Given the description of an element on the screen output the (x, y) to click on. 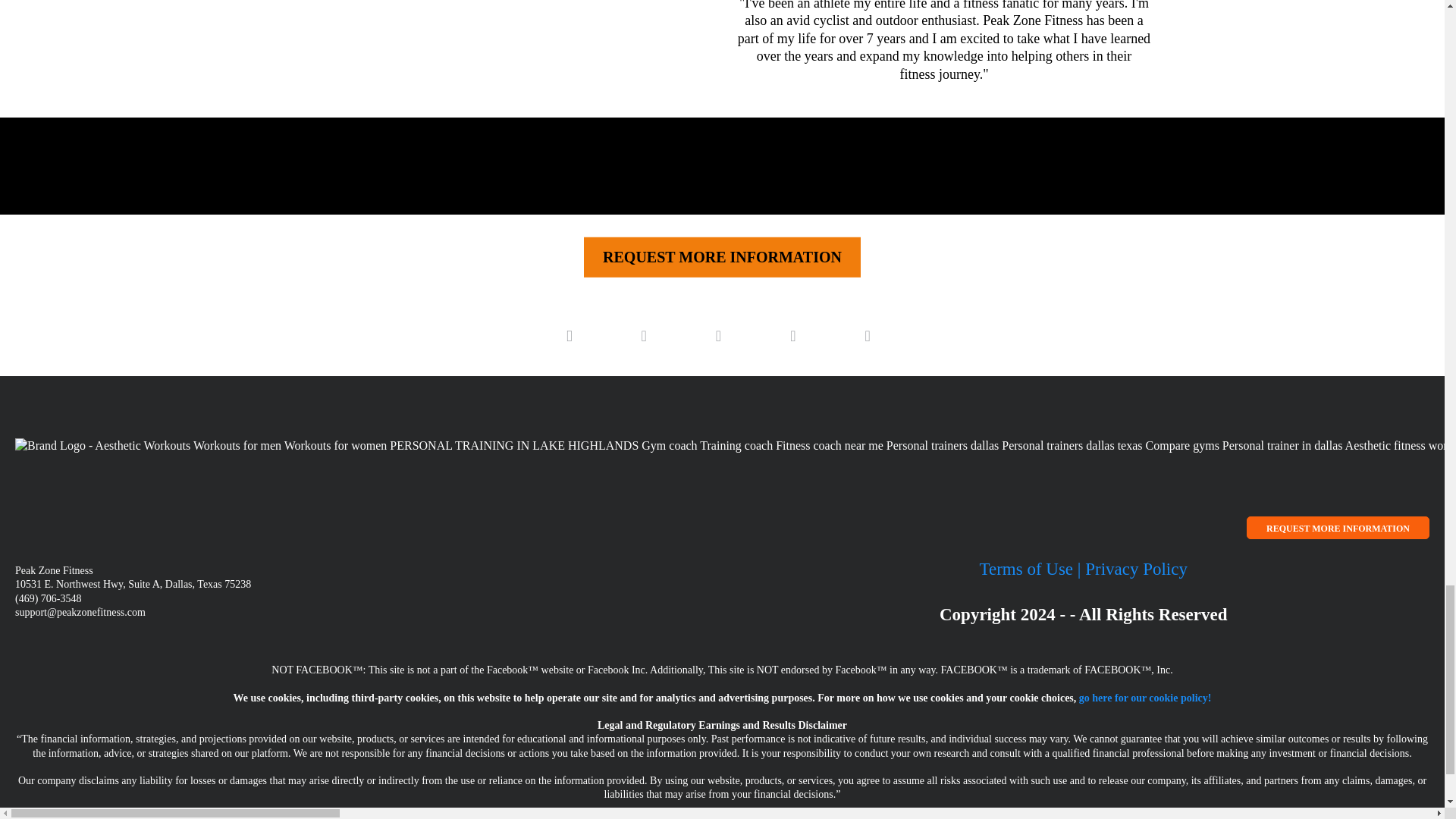
REQUEST MORE INFORMATION (721, 253)
